Given the description of an element on the screen output the (x, y) to click on. 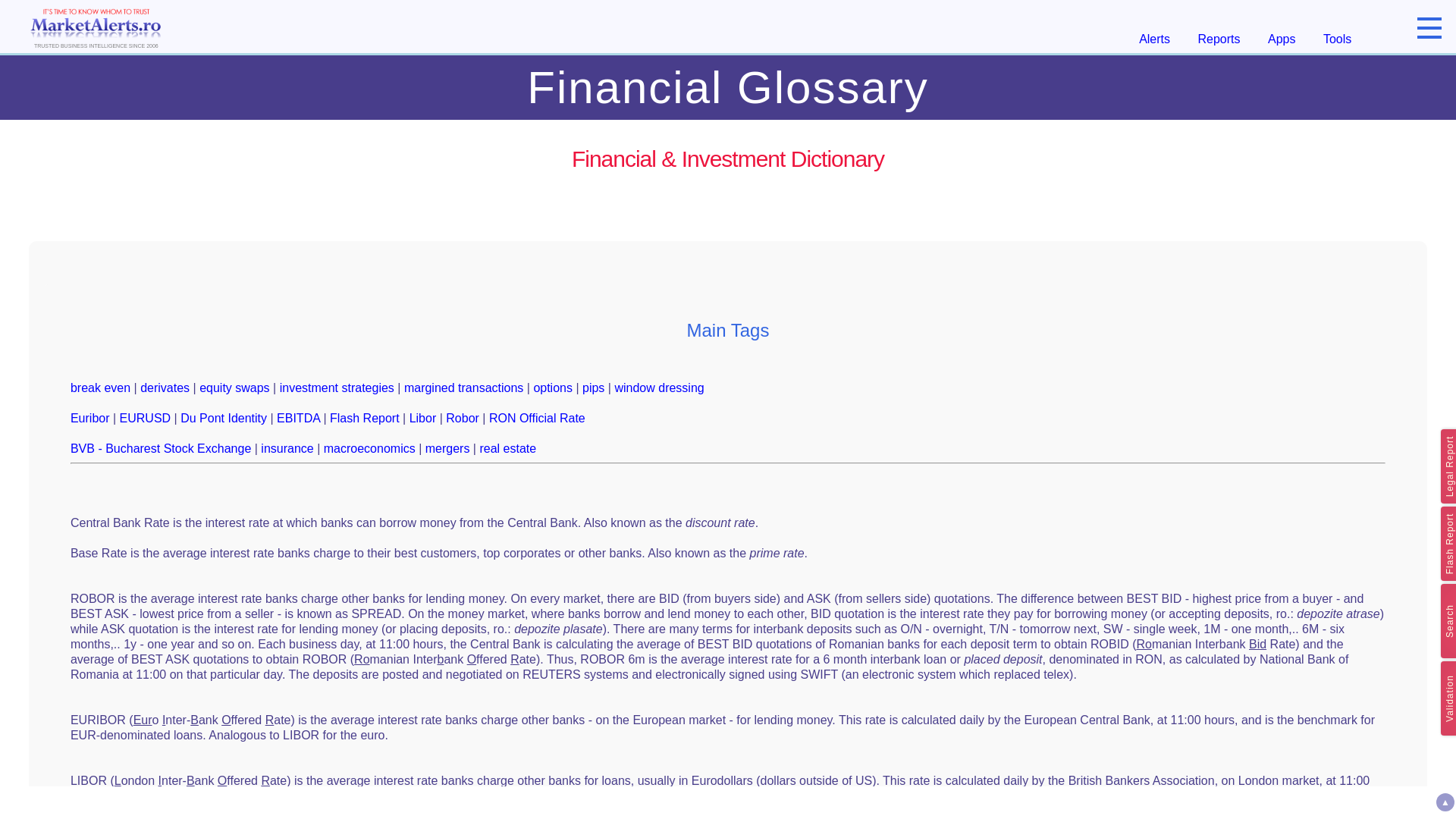
Tools (1337, 38)
pips (593, 387)
Flash Report (364, 418)
real estate (507, 448)
mergers (447, 448)
macroeconomics (368, 448)
EBITDA (298, 418)
Alerts (1154, 38)
derivates (164, 387)
Explore our Home page (96, 26)
window dressing (658, 387)
BVB - Bucharest Stock Exchange (159, 448)
Libor (422, 418)
Robor (462, 418)
Reports (1219, 38)
